Given the description of an element on the screen output the (x, y) to click on. 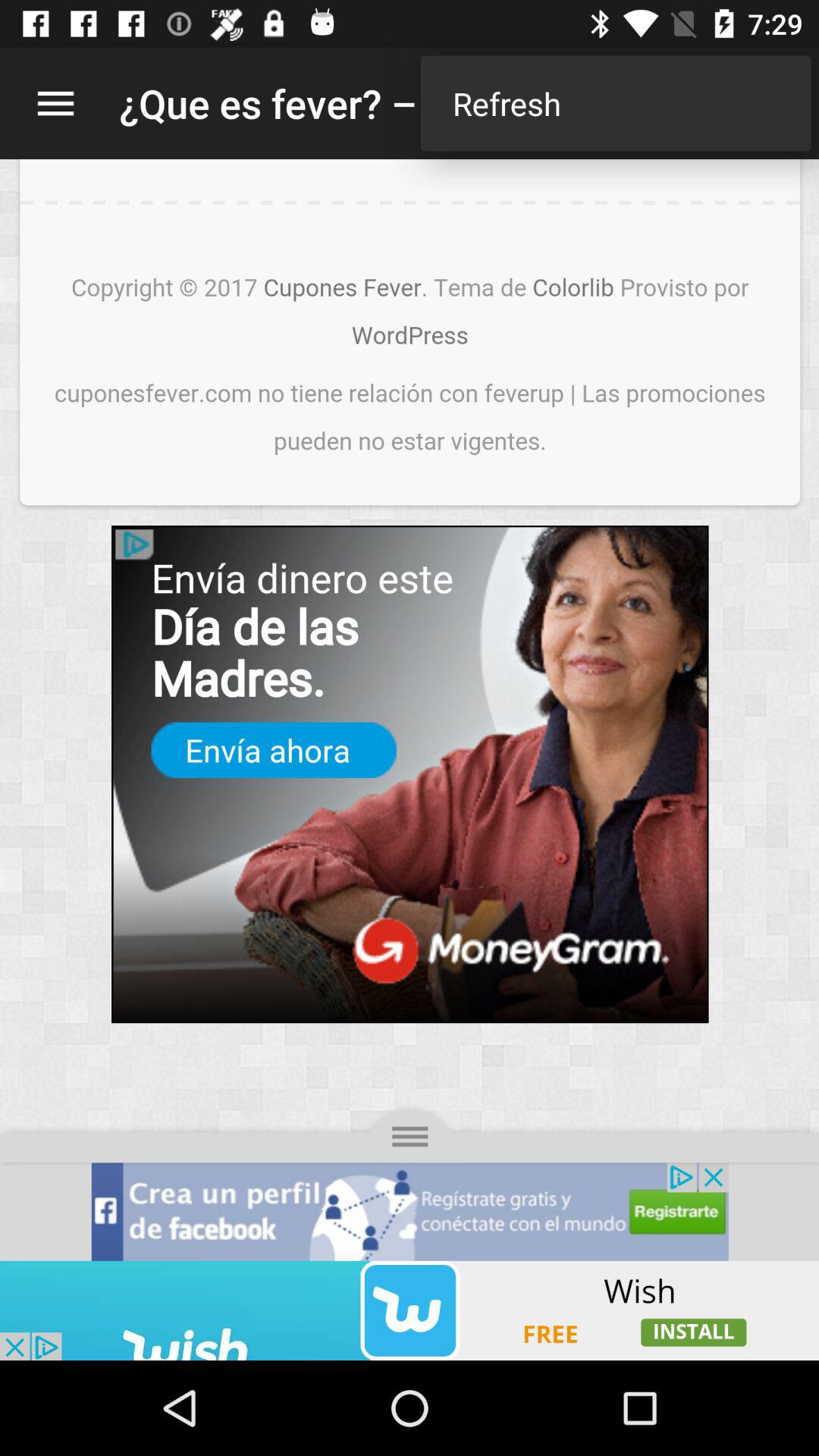
visit advertiser website (409, 1310)
